Given the description of an element on the screen output the (x, y) to click on. 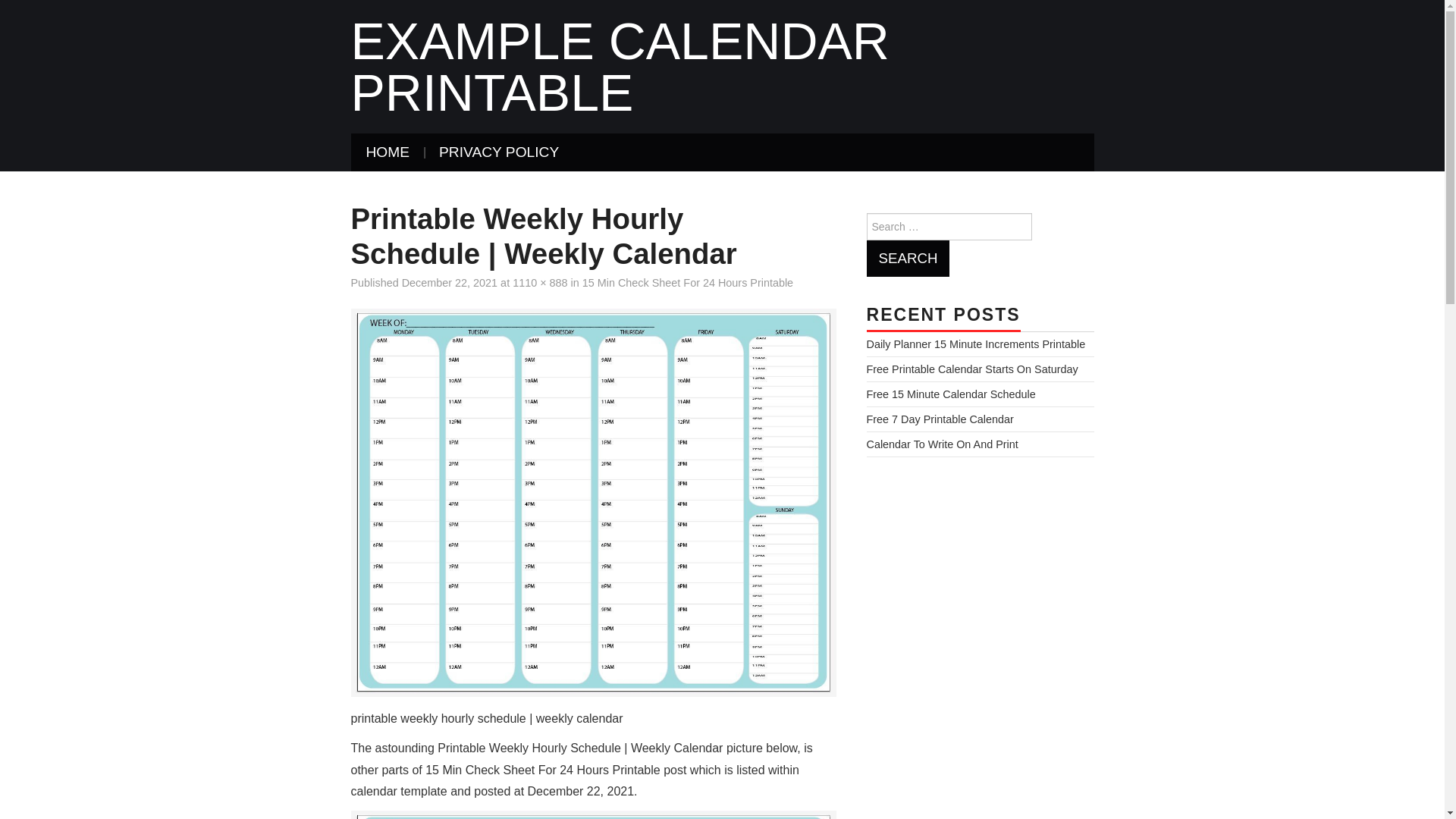
EXAMPLE CALENDAR PRINTABLE (619, 66)
Free Printable Calendar Starts On Saturday (971, 369)
PRIVACY POLICY (498, 152)
Link to full-size image (539, 282)
Return to 15 Min Check Sheet For 24 Hours Printable (687, 282)
Search (907, 258)
Daily Planner 15 Minute Increments Printable (975, 344)
Free 7 Day Printable Calendar (939, 419)
15 Min Check Sheet For 24 Hours Printable (687, 282)
Search (907, 258)
